Given the description of an element on the screen output the (x, y) to click on. 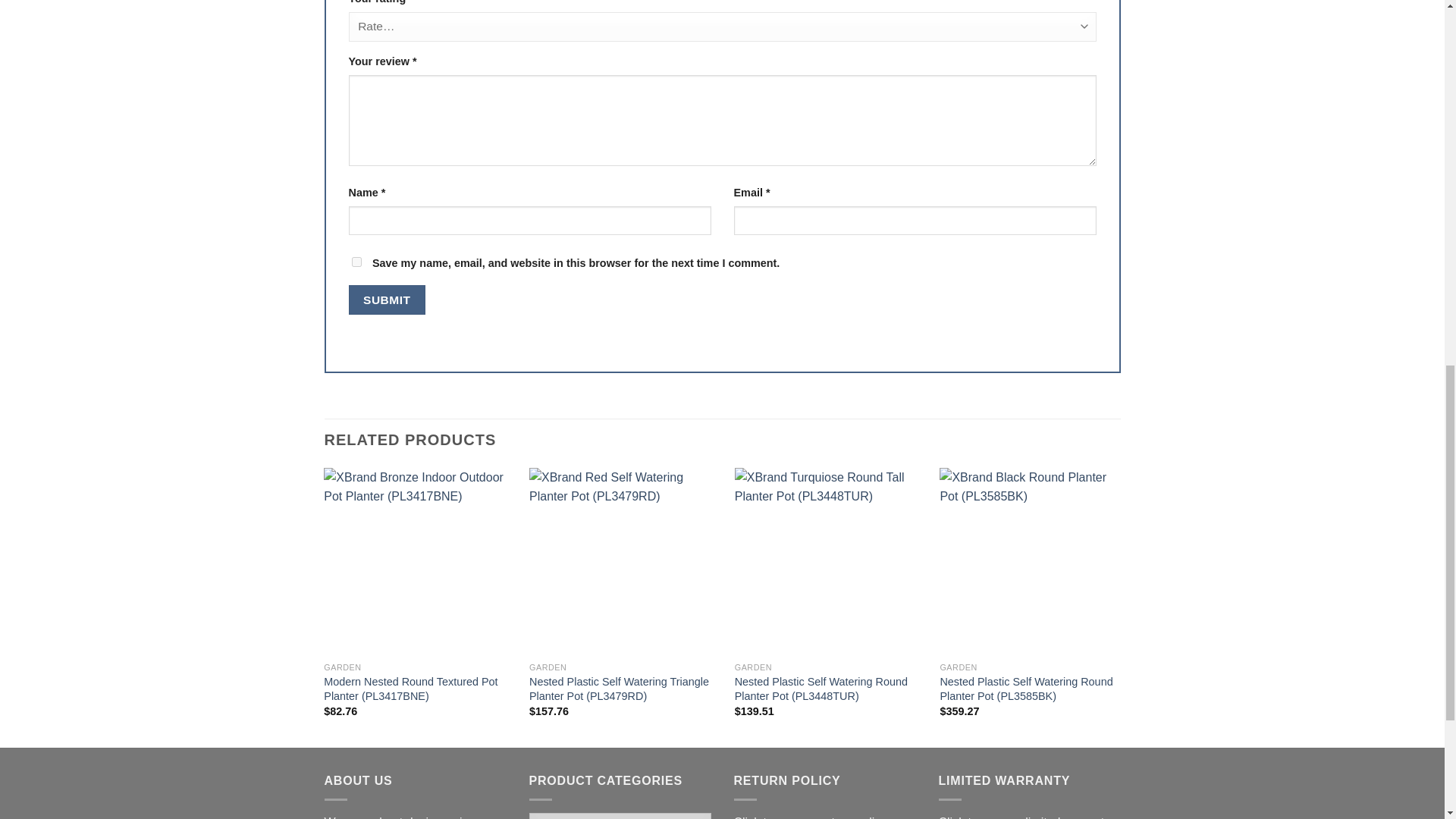
yes (356, 261)
Submit (387, 299)
